Given the description of an element on the screen output the (x, y) to click on. 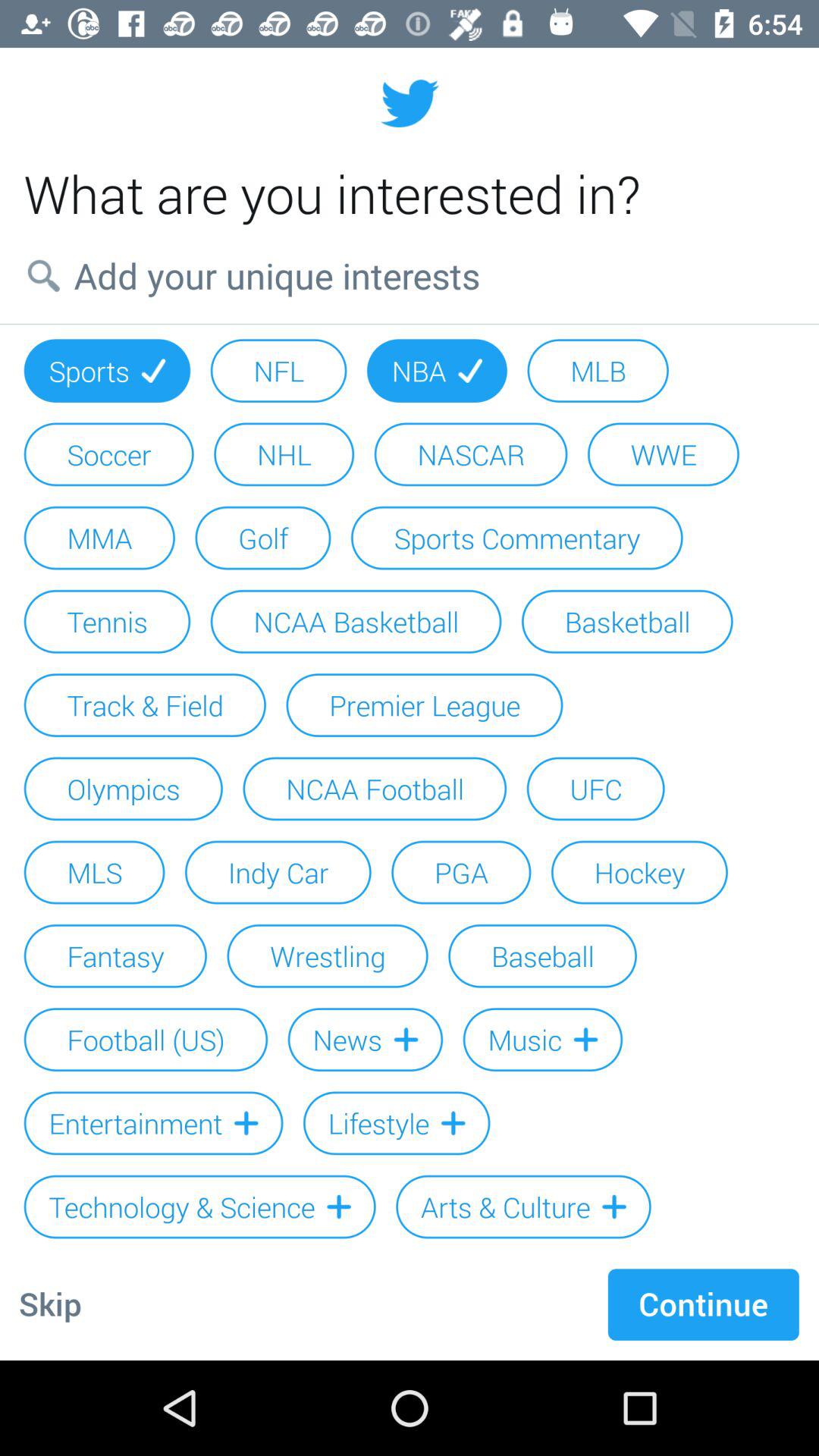
tap the item above the track & field icon (355, 621)
